Given the description of an element on the screen output the (x, y) to click on. 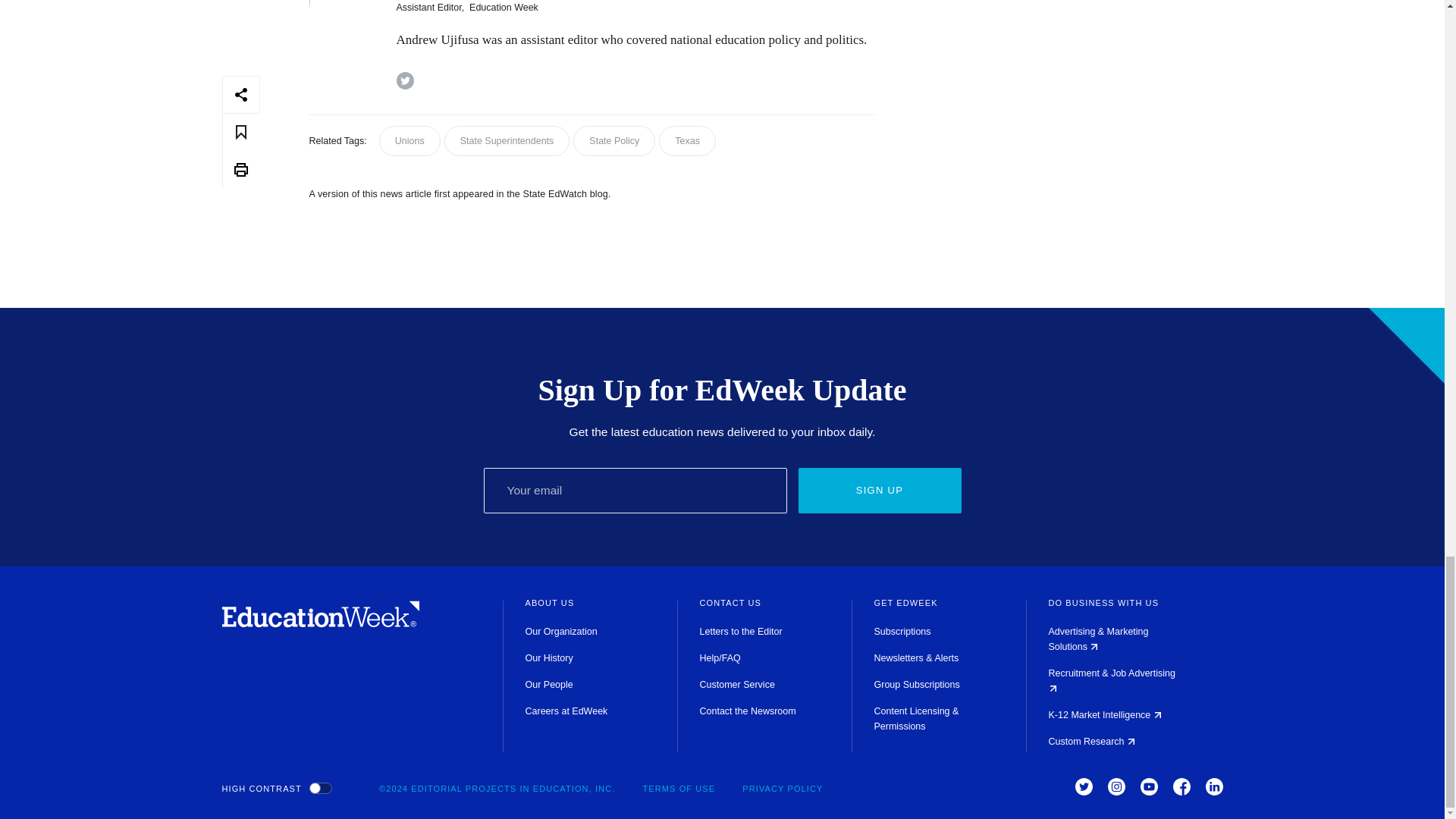
Homepage (320, 623)
